Given the description of an element on the screen output the (x, y) to click on. 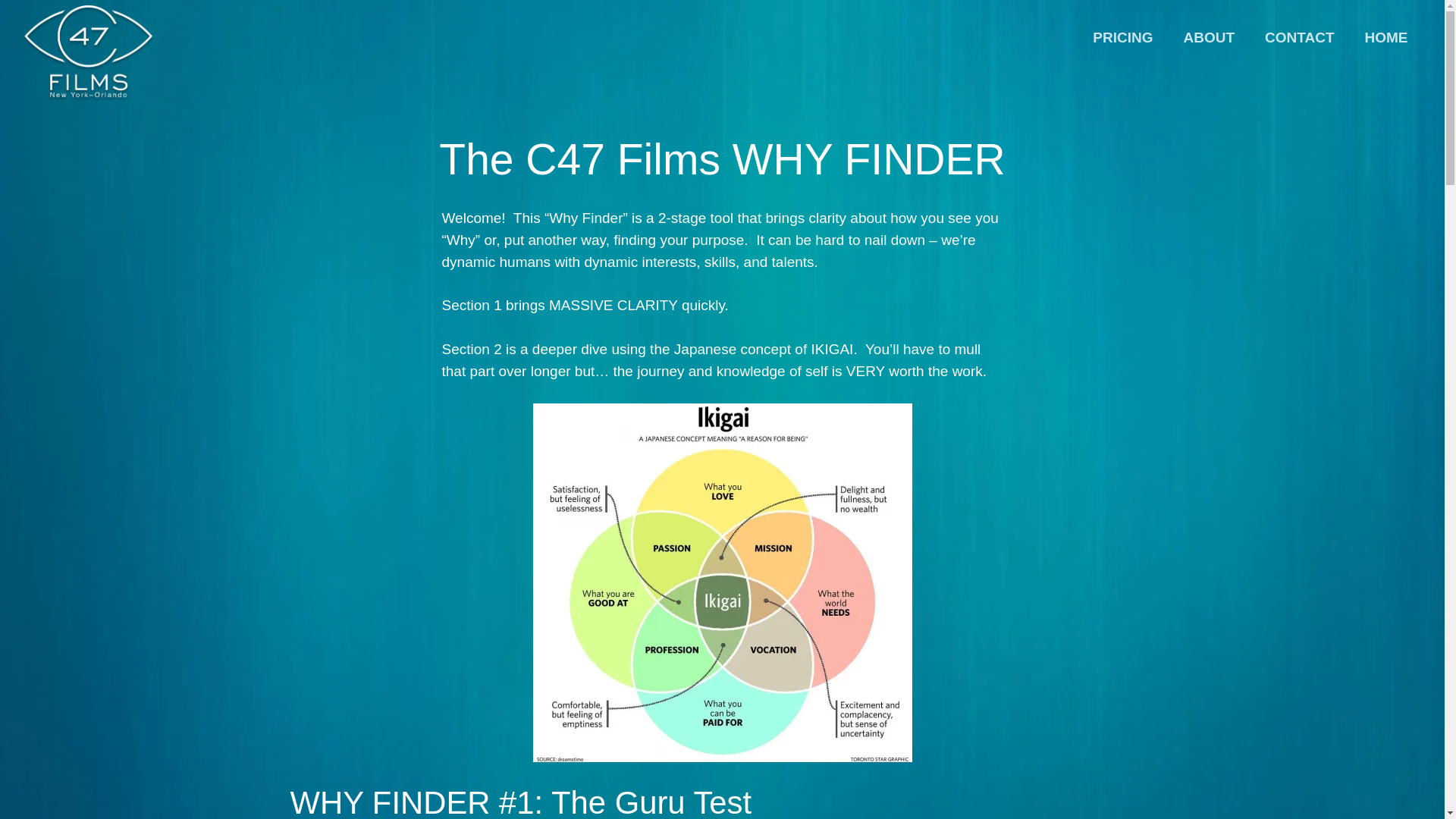
HOME (1386, 38)
CONTACT (1299, 38)
PRICING (1122, 38)
ABOUT (1208, 38)
